Given the description of an element on the screen output the (x, y) to click on. 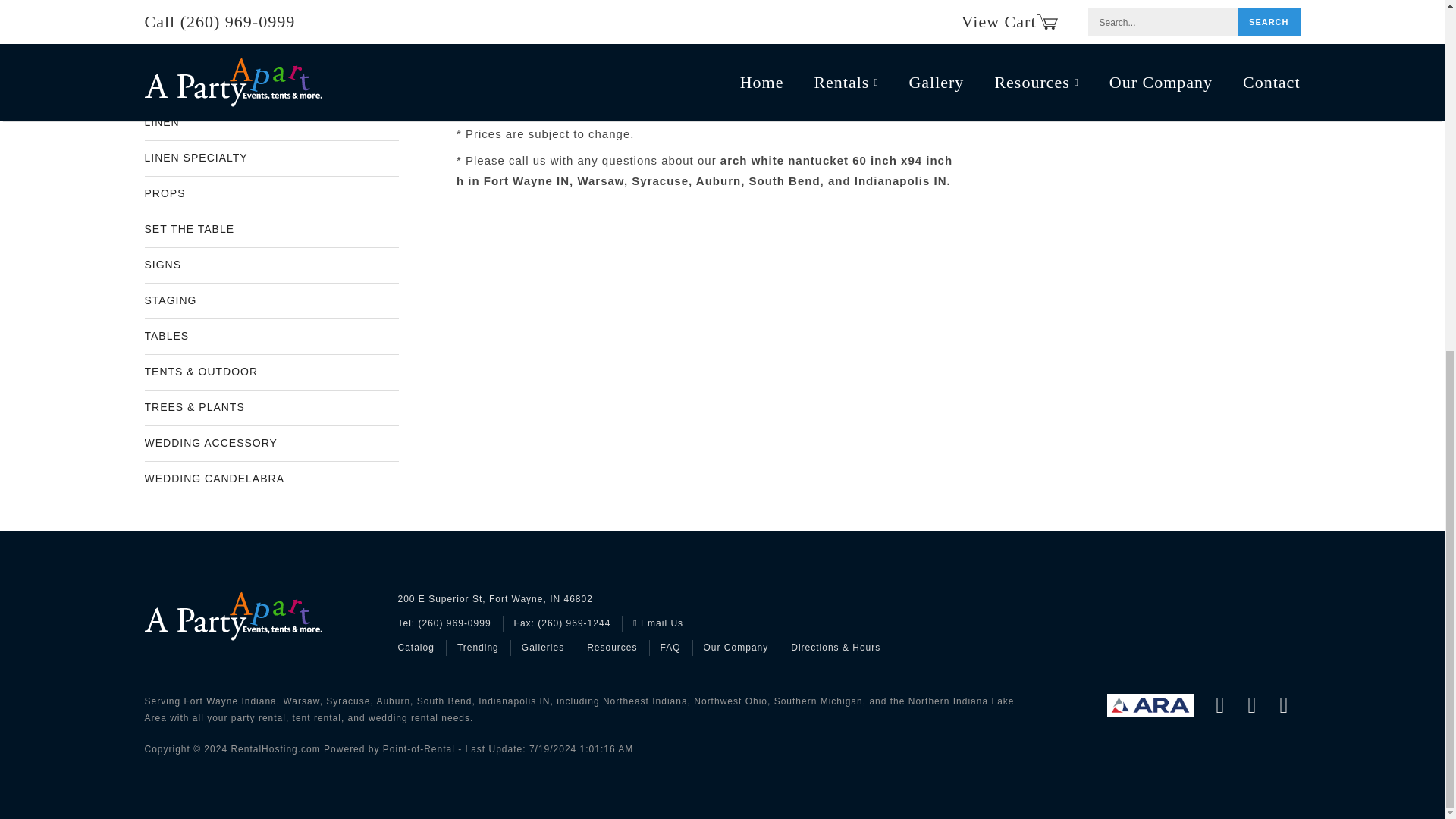
INFLATABLES (270, 51)
HOLIDAY (270, 16)
Add to Cart (524, 68)
LINEN SPECIALTY (270, 158)
LINEN (270, 122)
PROPS (270, 193)
